Given the description of an element on the screen output the (x, y) to click on. 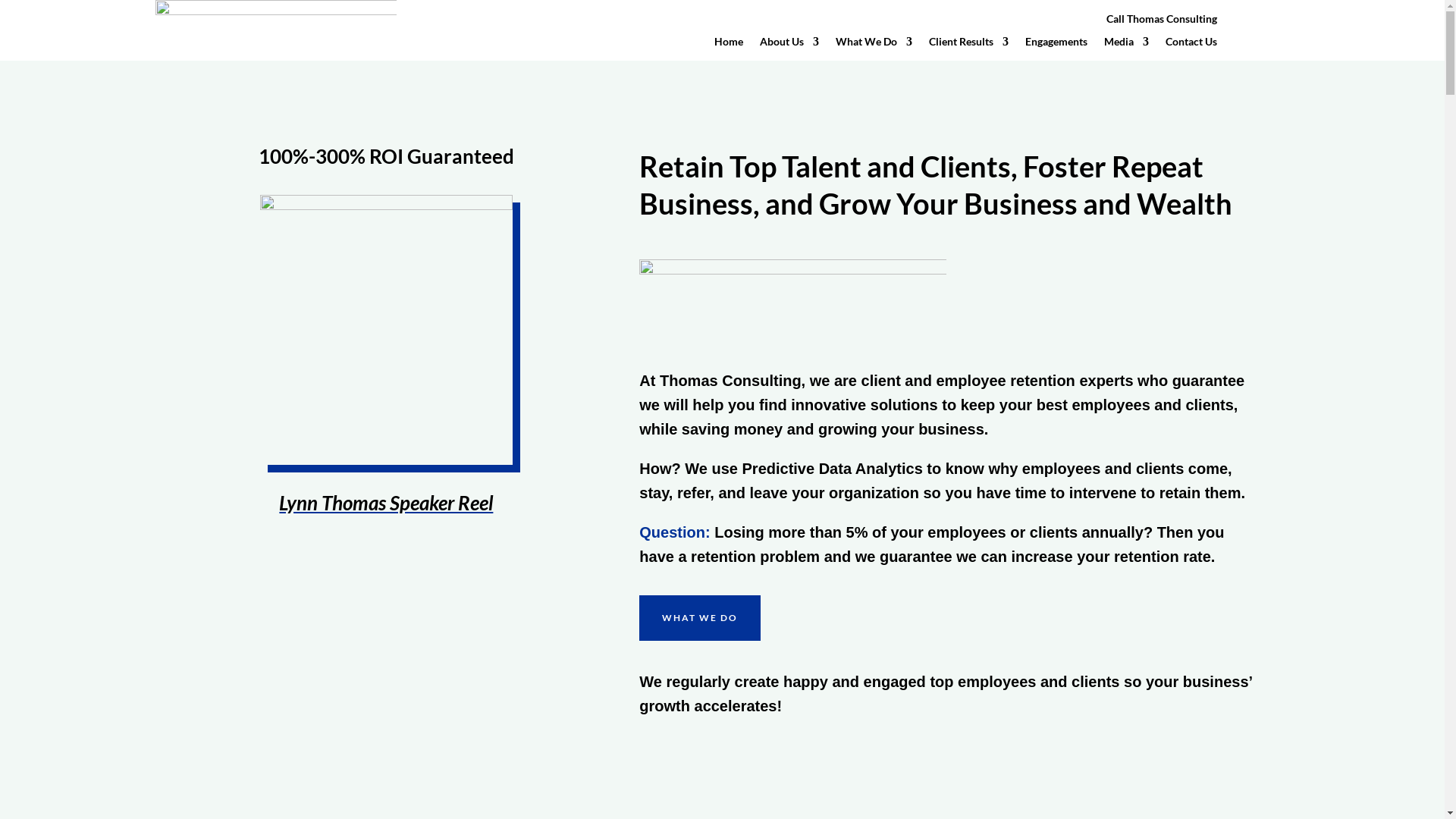
Client Results Element type: text (968, 44)
Home Element type: text (728, 44)
WHAT WE DO Element type: text (699, 617)
Call Thomas Consulting Element type: text (1161, 21)
Engagements Element type: text (1056, 44)
beextra Element type: hover (792, 298)
Media Element type: text (1126, 44)
What We Do Element type: text (873, 44)
Contact Us Element type: text (1191, 44)
About Us Element type: text (789, 44)
Lynn's Photo Element type: hover (386, 329)
